Given the description of an element on the screen output the (x, y) to click on. 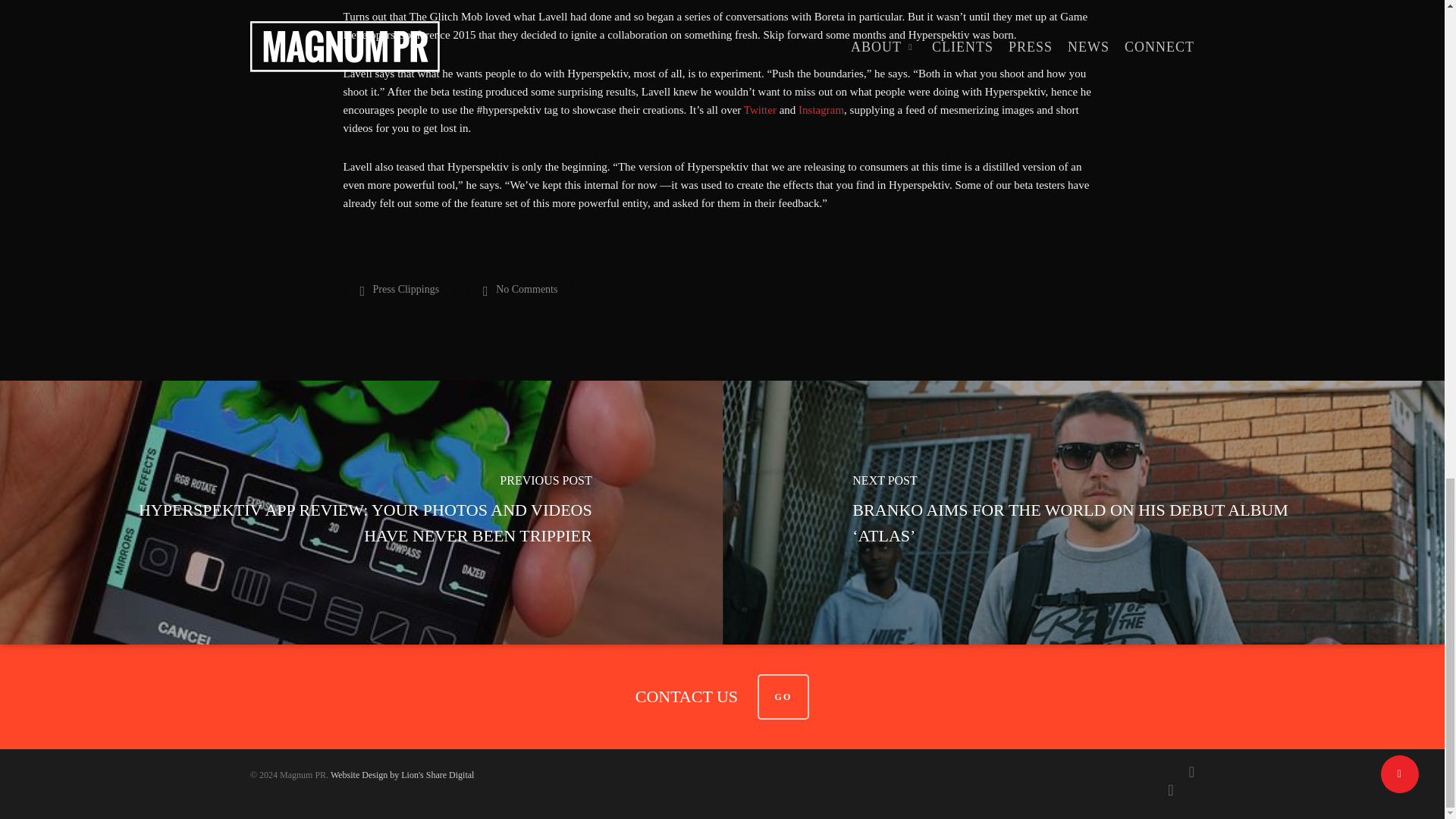
Instagram (820, 110)
No Comments (519, 289)
Press Clippings (398, 289)
Twitter (760, 110)
